Given the description of an element on the screen output the (x, y) to click on. 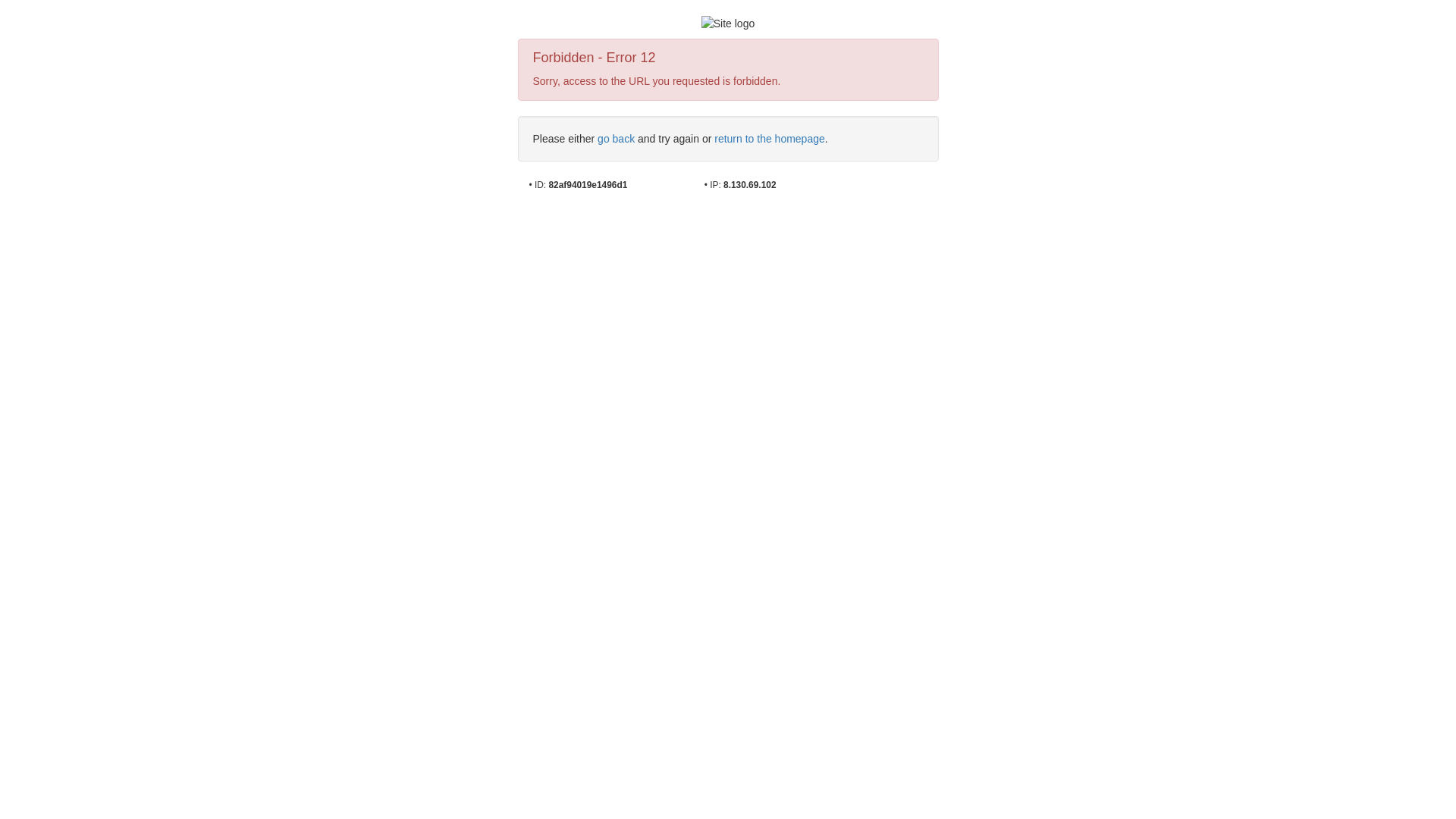
return to the homepage Element type: text (769, 138)
go back Element type: text (615, 138)
